Given the description of an element on the screen output the (x, y) to click on. 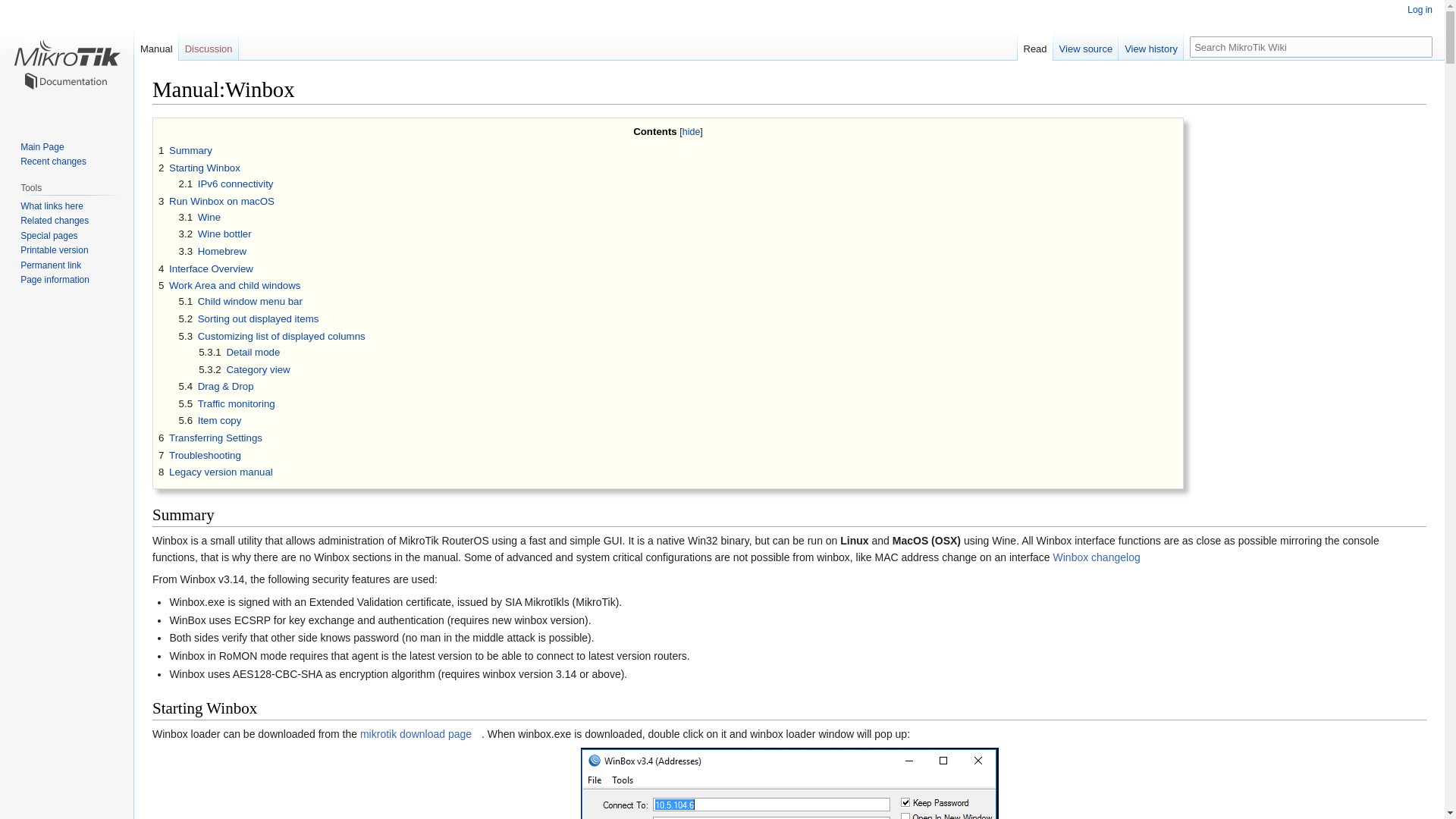
5.1 Child window menu bar (240, 301)
3 Run Winbox on macOS (216, 201)
3.3 Homebrew (212, 251)
5.6 Item copy (210, 419)
7 Troubleshooting (199, 454)
6 Transferring Settings (210, 437)
2.1 IPv6 connectivity (226, 183)
2 Starting Winbox (199, 167)
5.3.1 Detail mode (238, 351)
5.5 Traffic monitoring (227, 403)
5.3.2 Category view (243, 369)
Visit the main page (66, 60)
4 Interface Overview (205, 268)
3.2 Wine bottler (215, 233)
5 Work Area and child windows (228, 285)
